Given the description of an element on the screen output the (x, y) to click on. 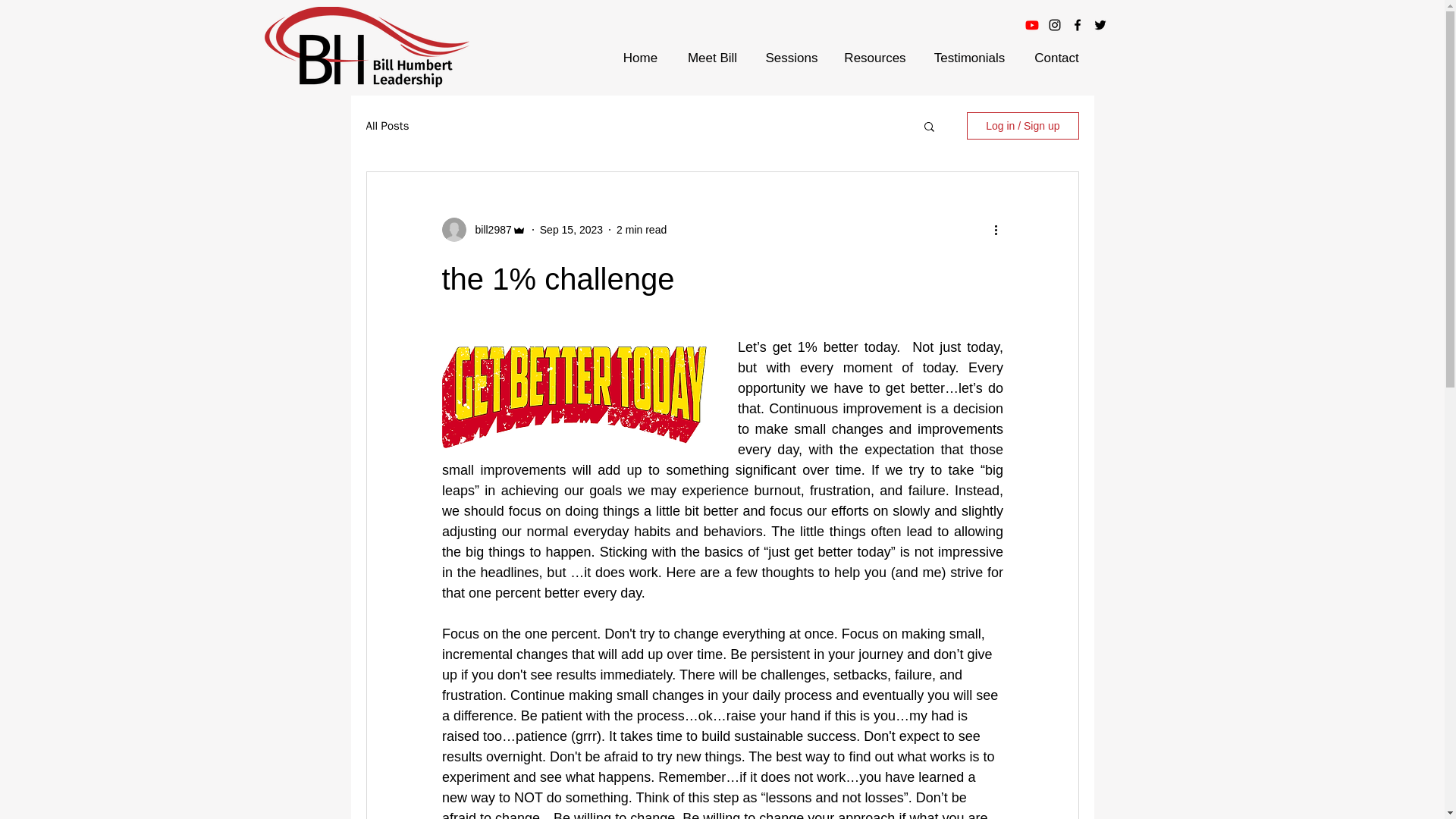
Contact (1056, 57)
2 min read (640, 228)
Meet Bill (711, 57)
BHL.PNG (365, 47)
Sessions (790, 57)
Sep 15, 2023 (571, 228)
All Posts (387, 124)
Home (639, 57)
Testimonials (968, 57)
bill2987 (488, 229)
